Given the description of an element on the screen output the (x, y) to click on. 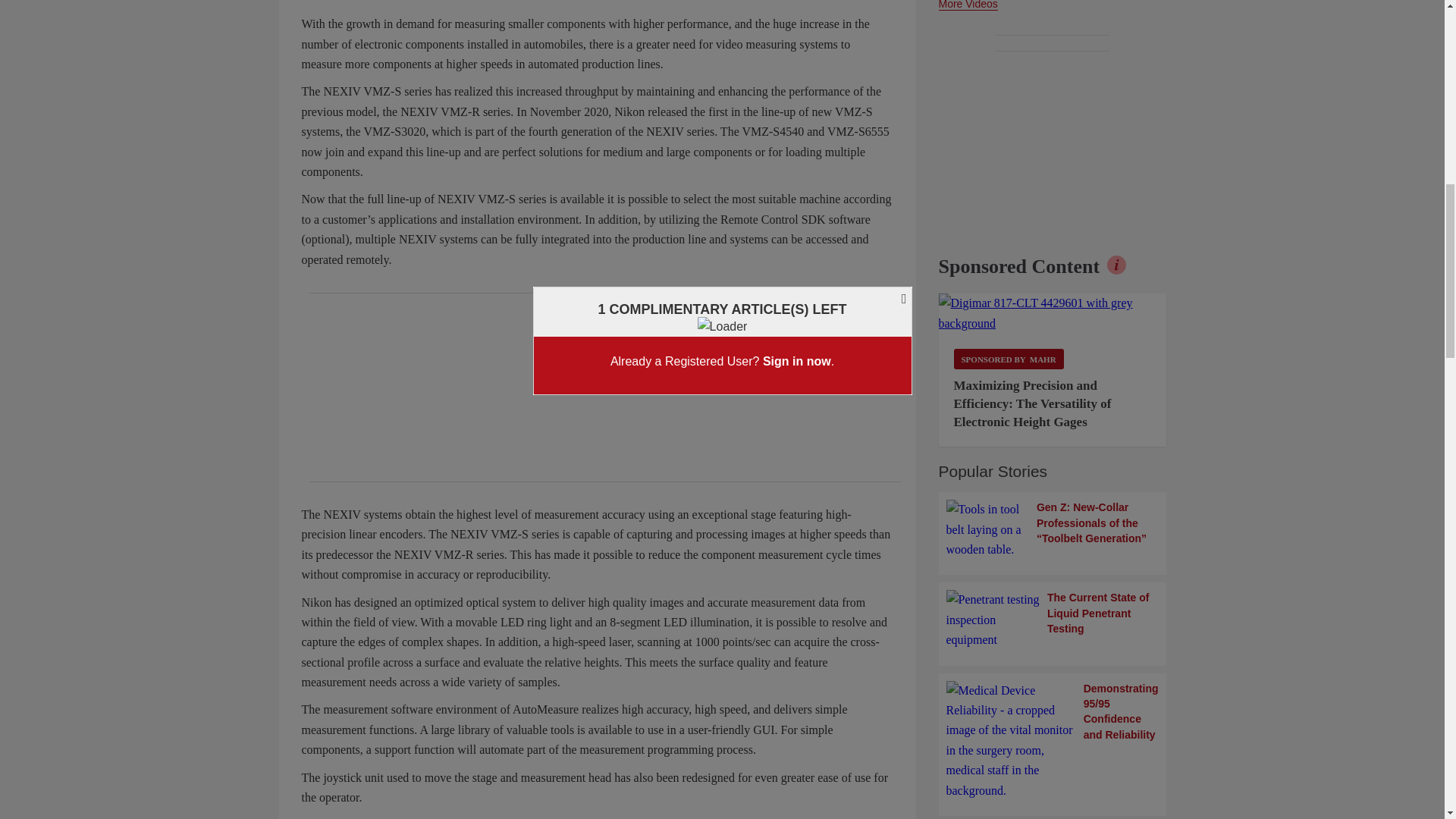
The Current State of Liquid Penetrant Testing (1052, 619)
Digimar 817-CLT 4429601 with grey background (1052, 313)
Sponsored by Mahr (1008, 358)
